Given the description of an element on the screen output the (x, y) to click on. 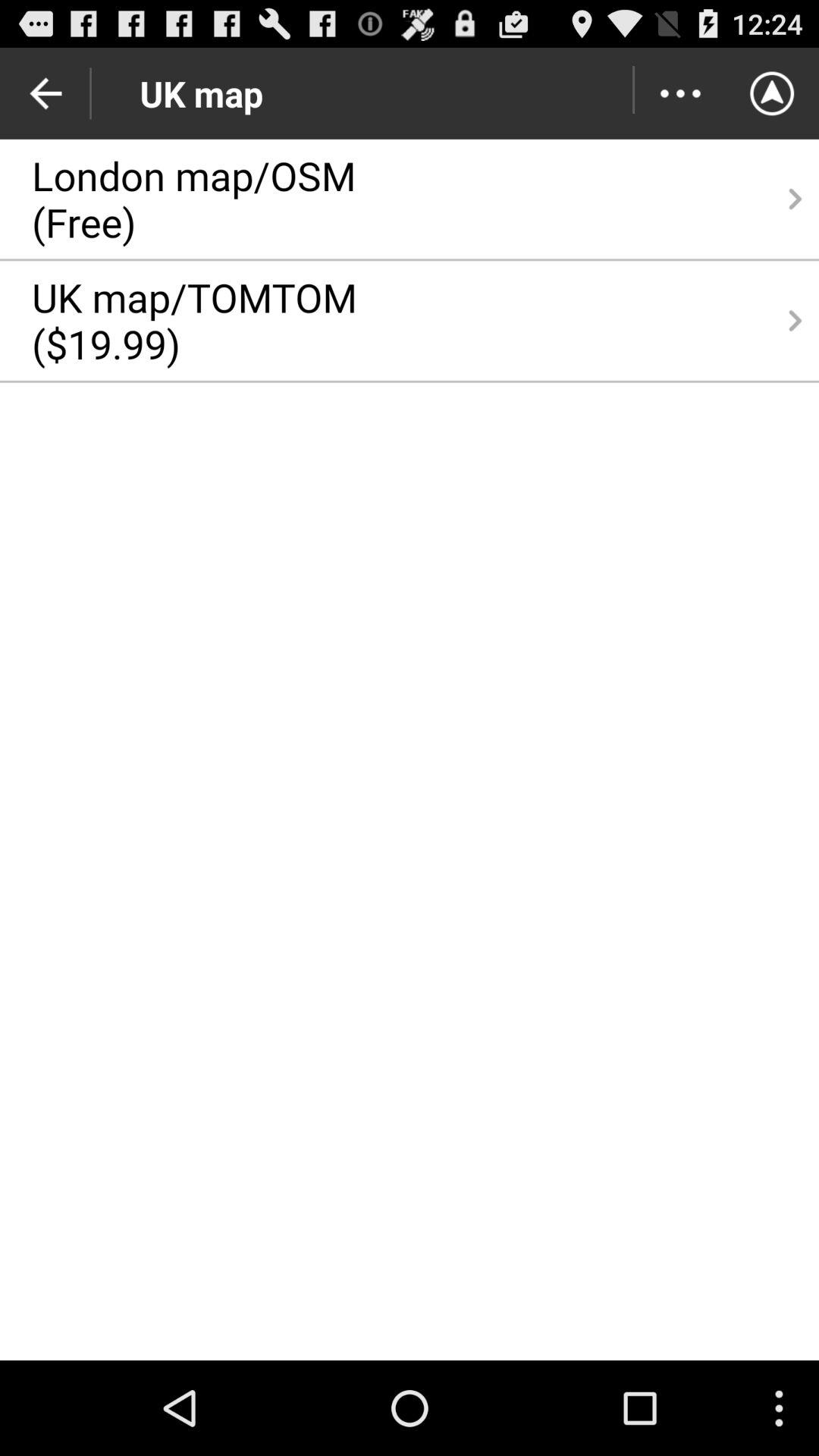
tap the app above london map osm (680, 93)
